Given the description of an element on the screen output the (x, y) to click on. 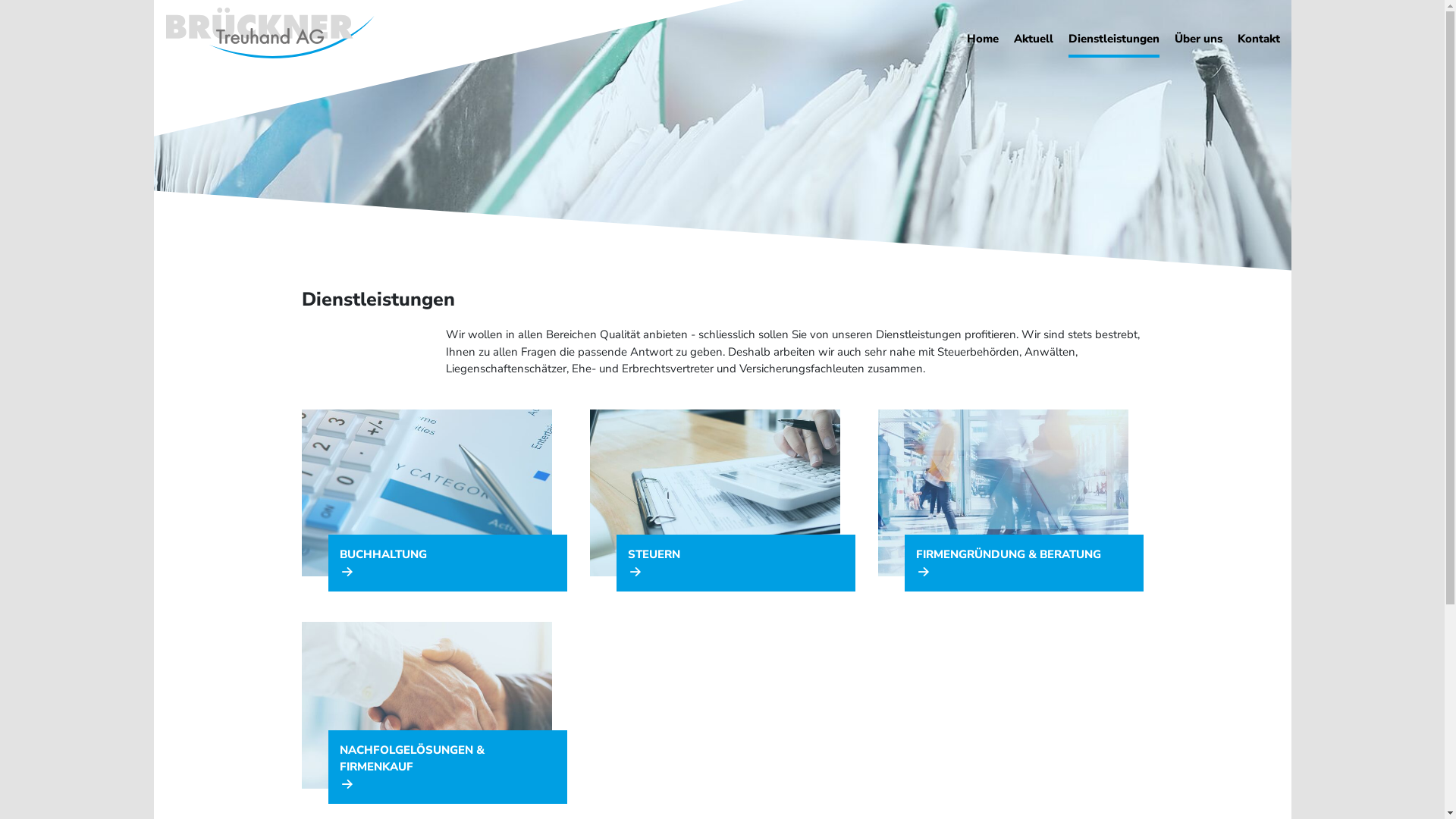
Home Element type: text (981, 38)
STEUERN Element type: text (734, 562)
  Element type: text (966, 54)
Kontakt Element type: text (1258, 38)
Aktuell Element type: text (1032, 38)
BUCHHALTUNG Element type: text (446, 562)
